Given the description of an element on the screen output the (x, y) to click on. 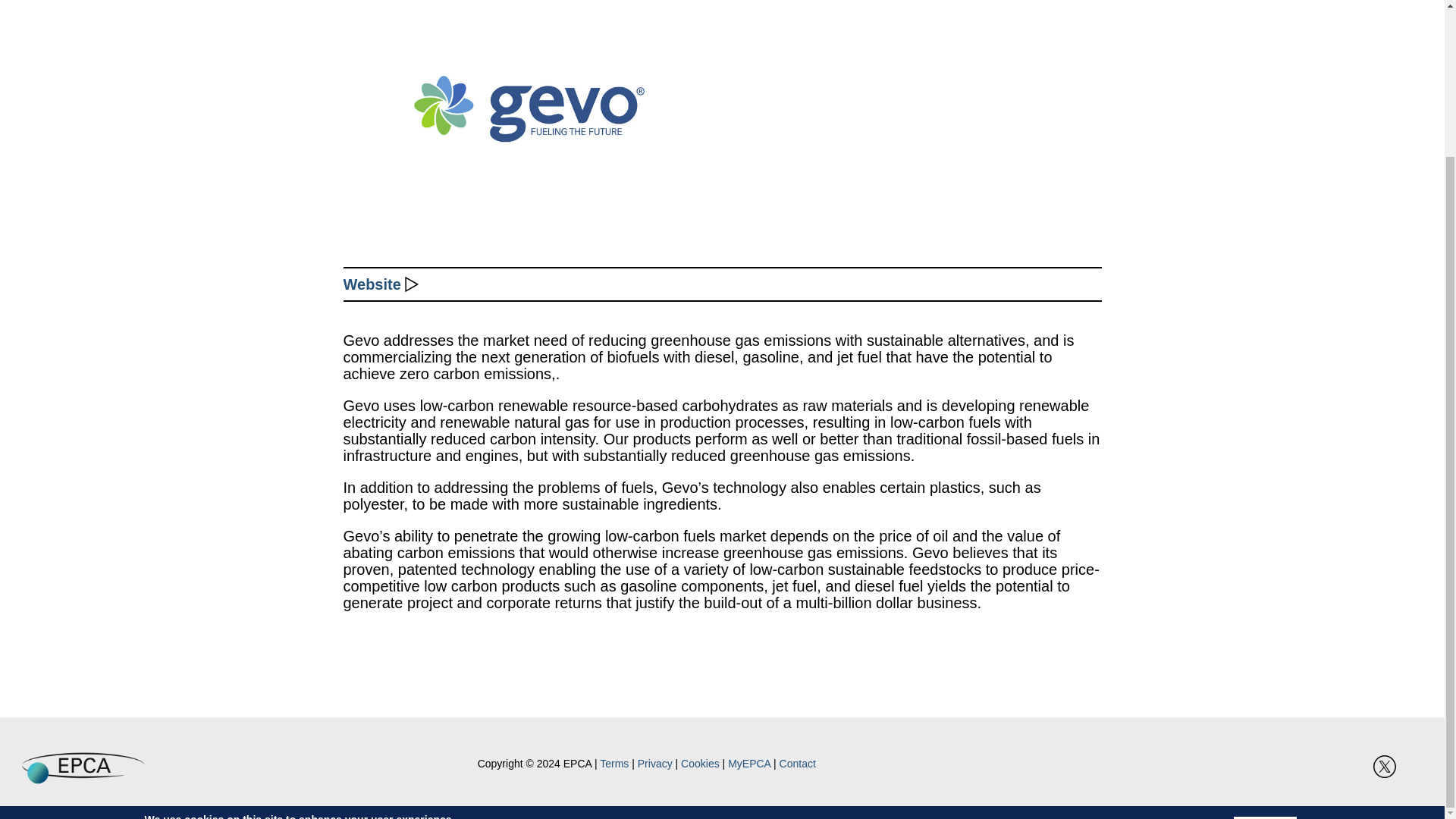
MyEPCA (749, 763)
Cookies (700, 763)
Website (371, 284)
LinkedIn (1350, 766)
videos (1417, 766)
More info (454, 653)
Contact (796, 763)
Privacy (654, 763)
No, thanks (1265, 642)
Terms (613, 763)
